Given the description of an element on the screen output the (x, y) to click on. 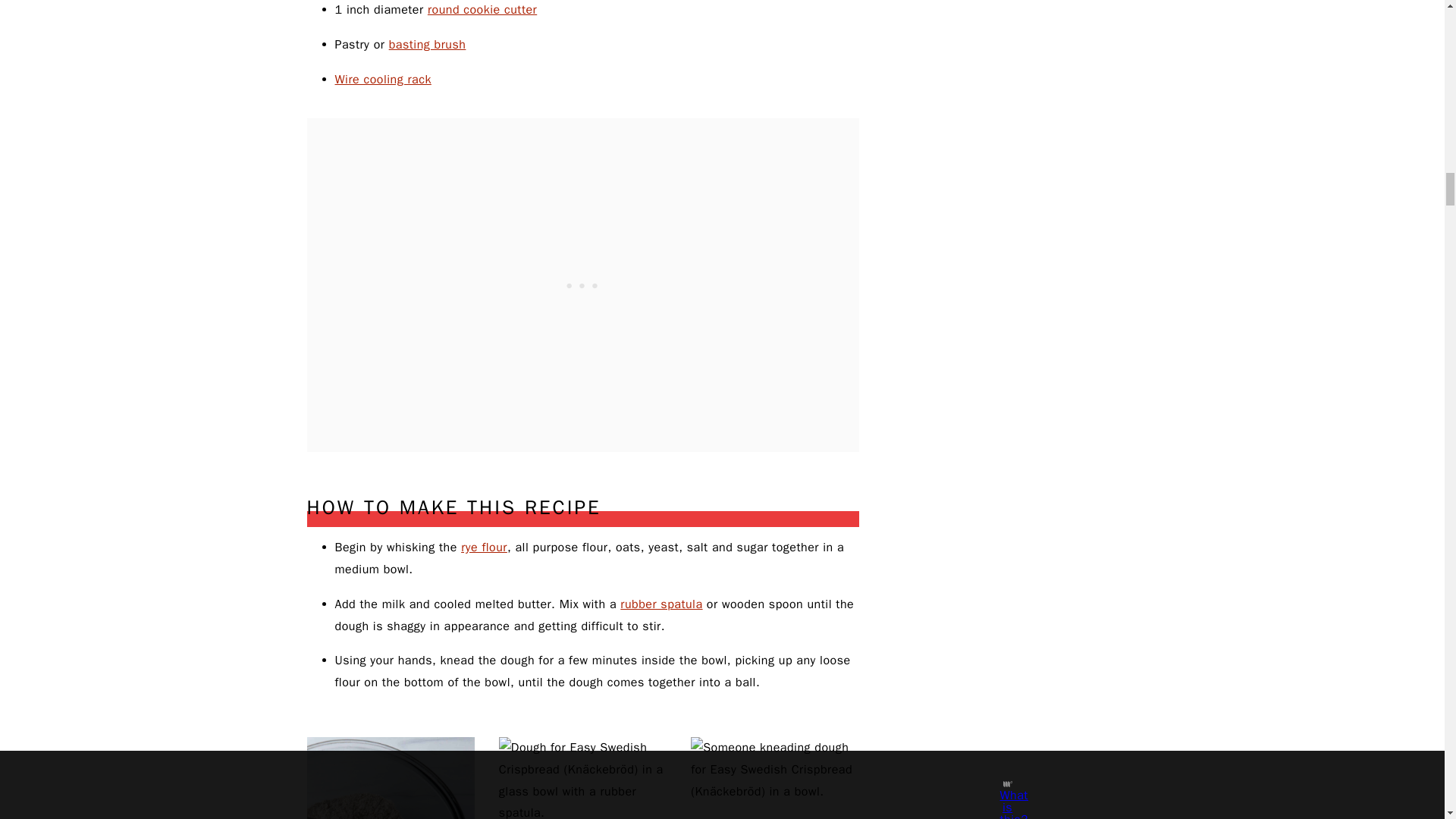
round cookie cutter (482, 9)
